Given the description of an element on the screen output the (x, y) to click on. 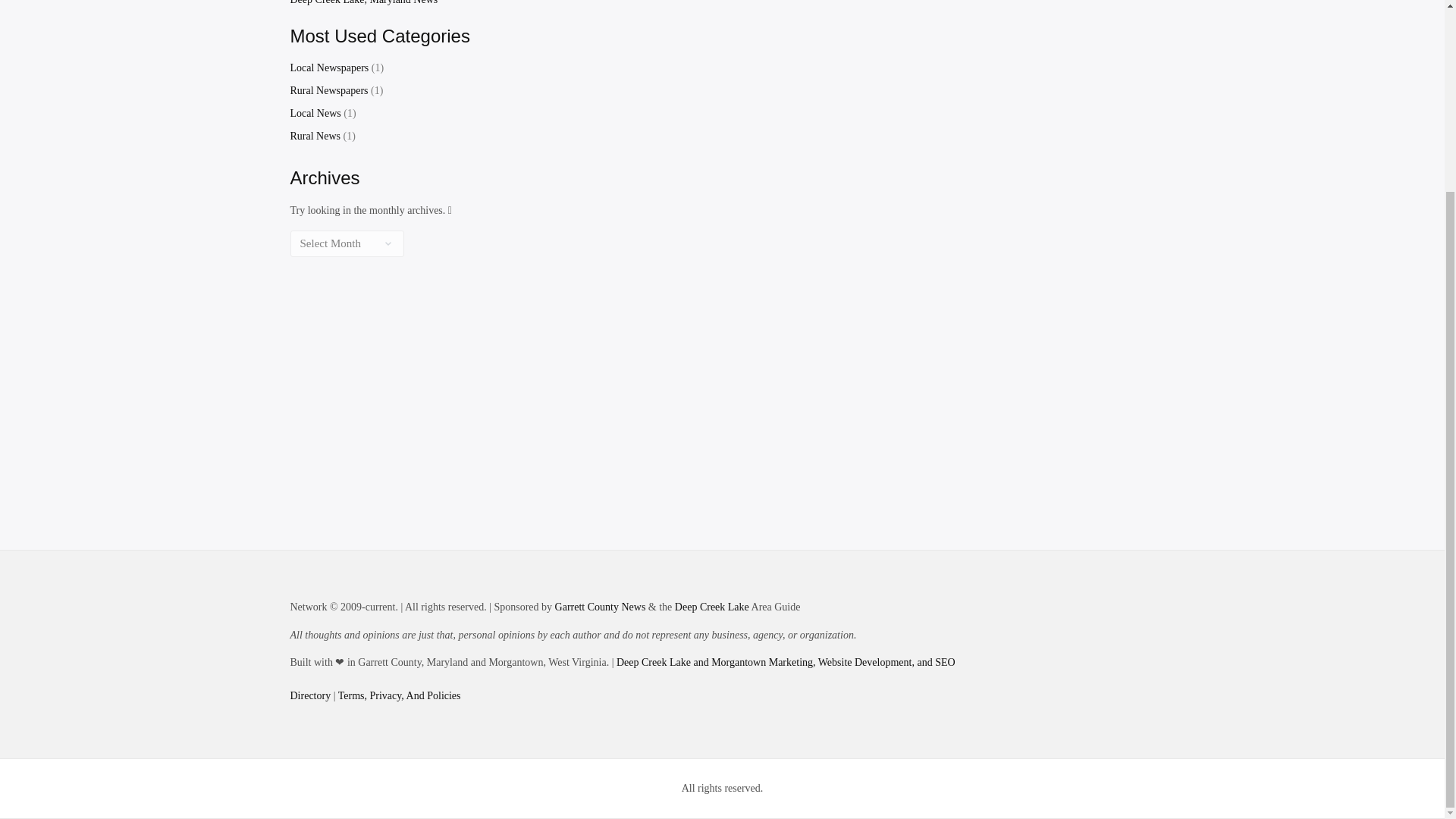
Directory (309, 695)
Local Newspapers (328, 67)
Terms, Privacy, And Policies (399, 695)
Garrett County News (600, 606)
Deep Creek Lake, Maryland News (363, 2)
Deep Creek Lake (712, 606)
Local News (314, 112)
Rural News (314, 135)
Rural Newspapers (328, 90)
